Given the description of an element on the screen output the (x, y) to click on. 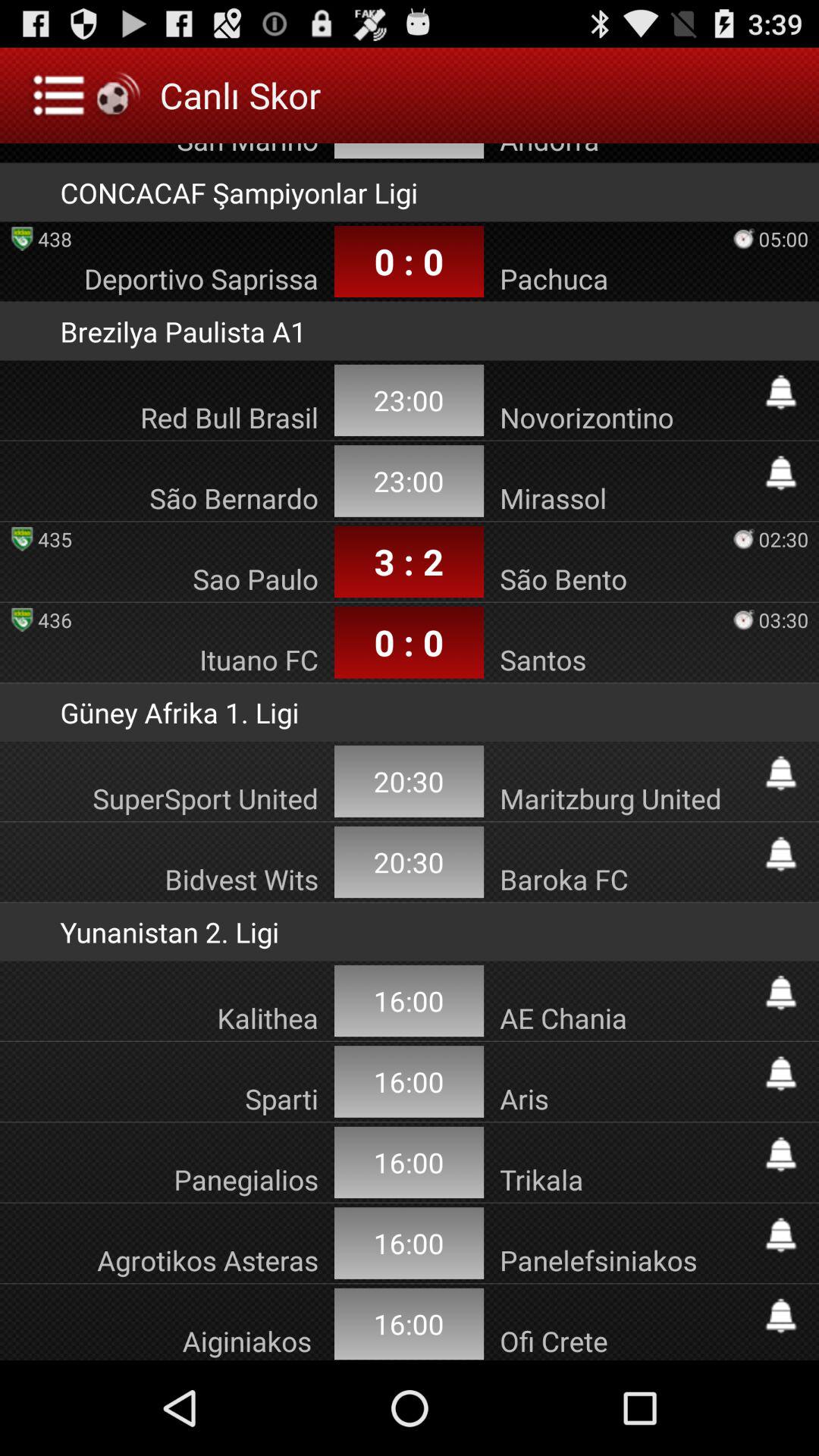
toggle notification (780, 992)
